Given the description of an element on the screen output the (x, y) to click on. 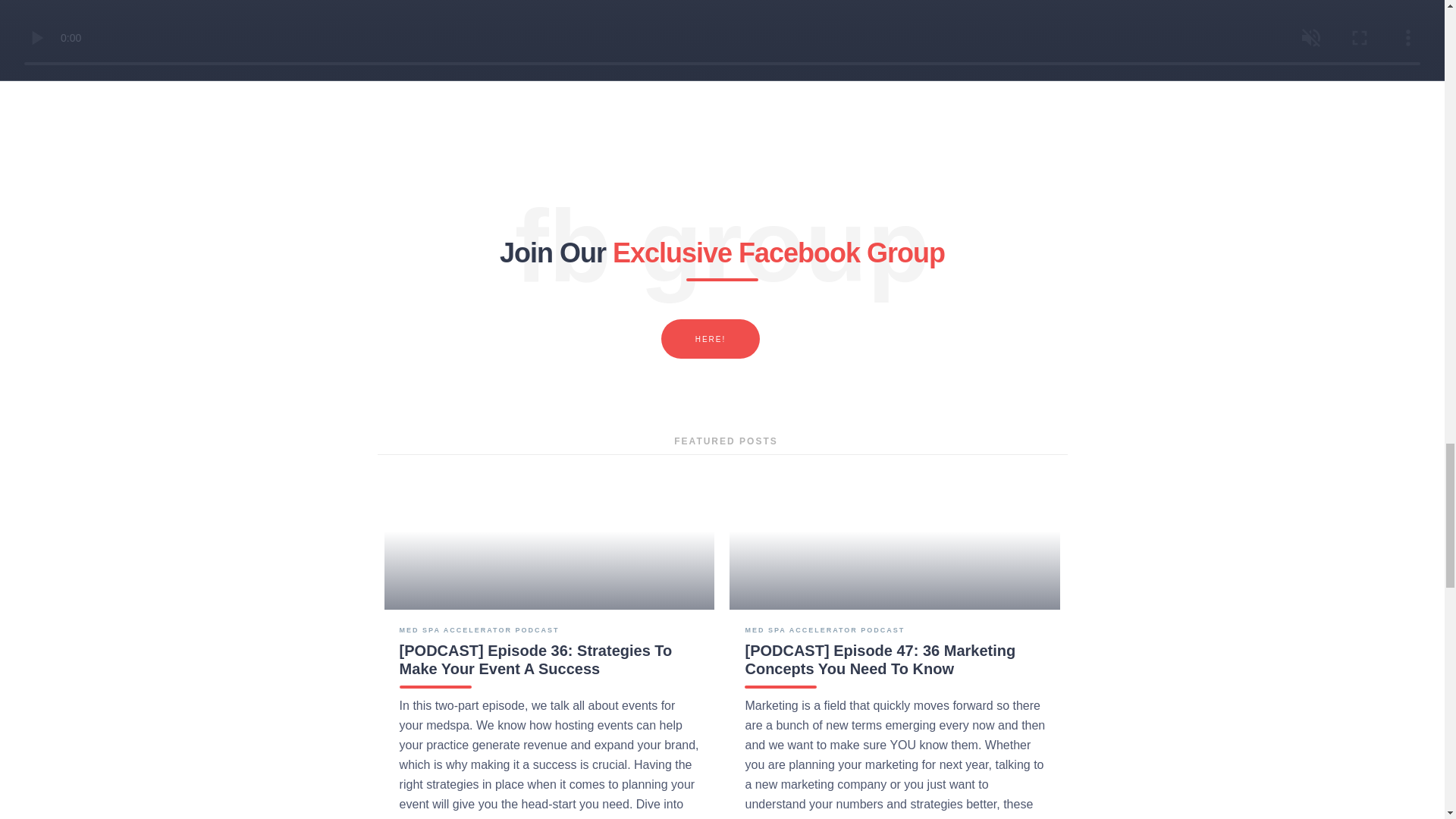
MED SPA ACCELERATOR PODCAST (824, 630)
MED SPA ACCELERATOR PODCAST (478, 630)
HERE! (710, 338)
